Given the description of an element on the screen output the (x, y) to click on. 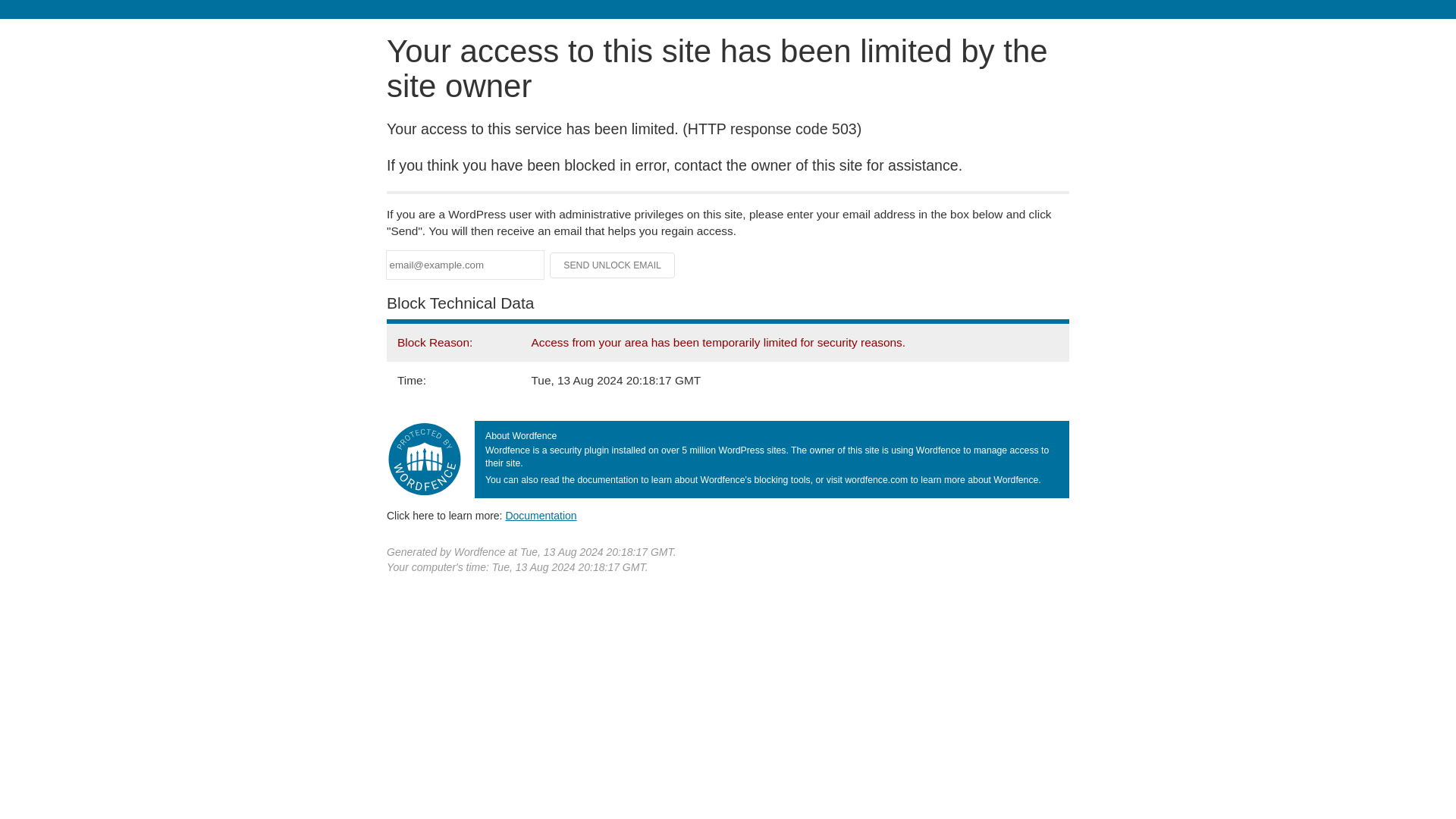
Send Unlock Email (612, 265)
Send Unlock Email (612, 265)
Documentation (540, 515)
